Given the description of an element on the screen output the (x, y) to click on. 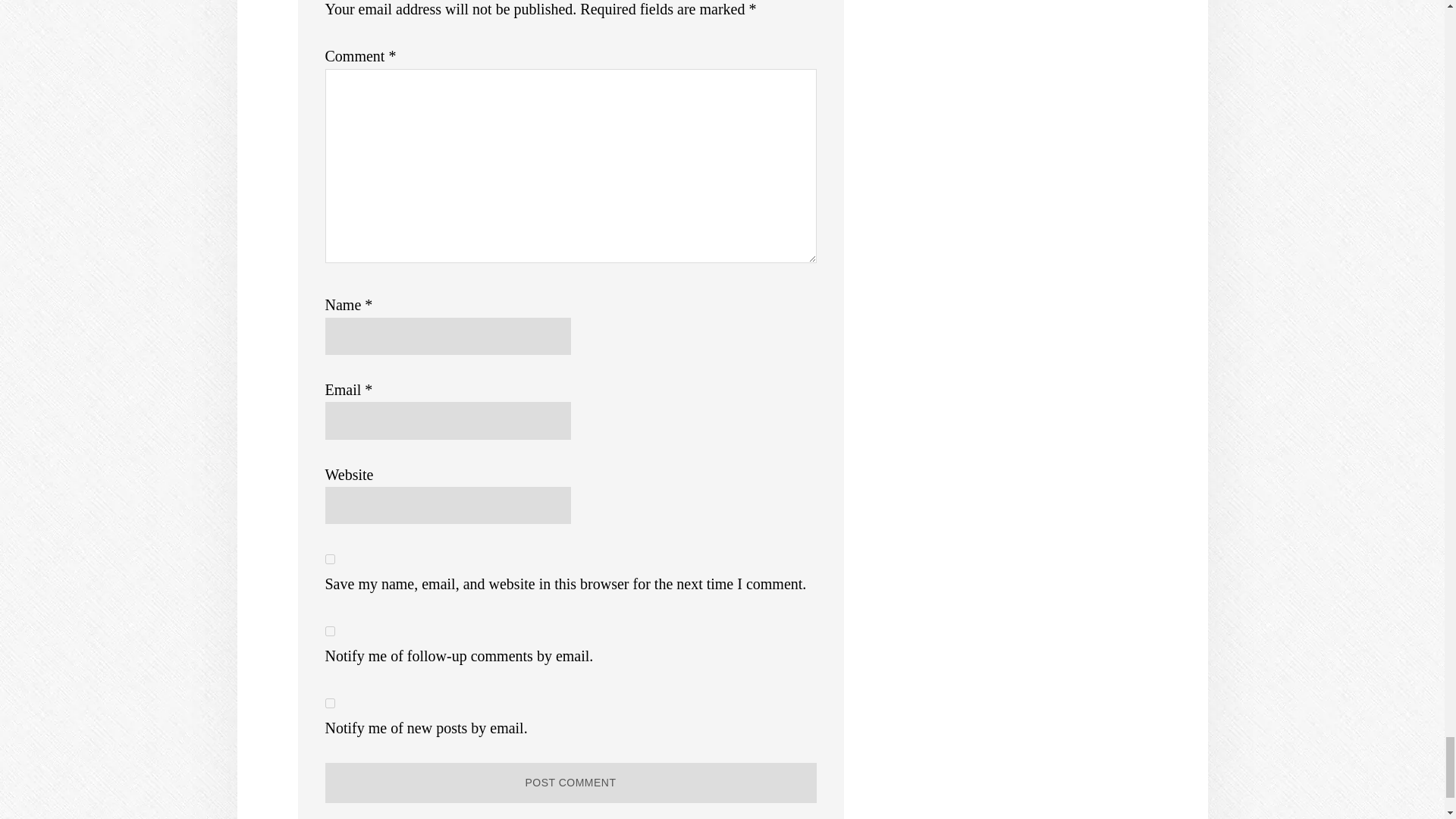
yes (329, 559)
Post Comment (569, 782)
subscribe (329, 631)
subscribe (329, 703)
